Given the description of an element on the screen output the (x, y) to click on. 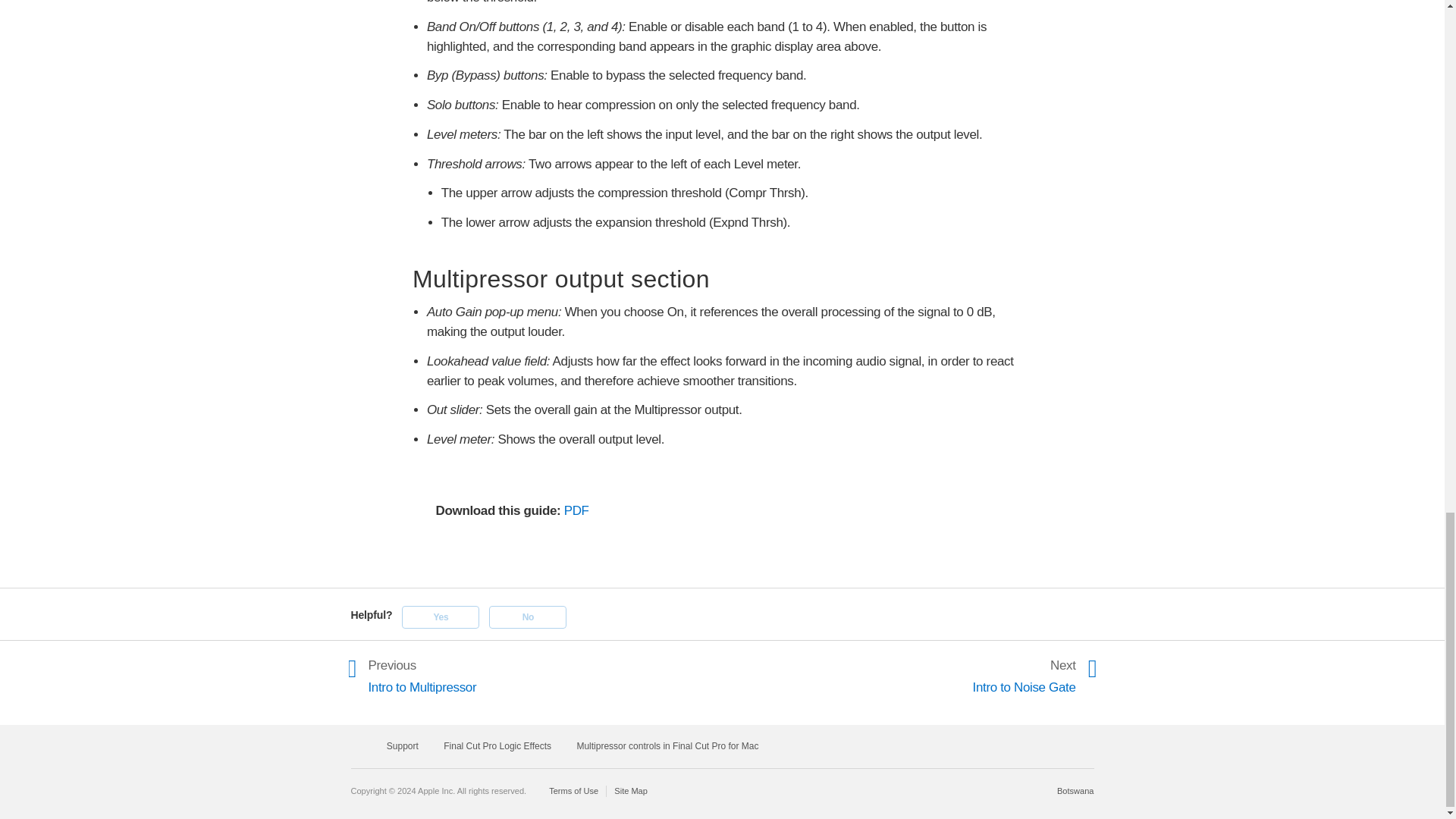
Solved my problem (440, 617)
Not helpful (527, 617)
Choose your country or region (1075, 790)
